Given the description of an element on the screen output the (x, y) to click on. 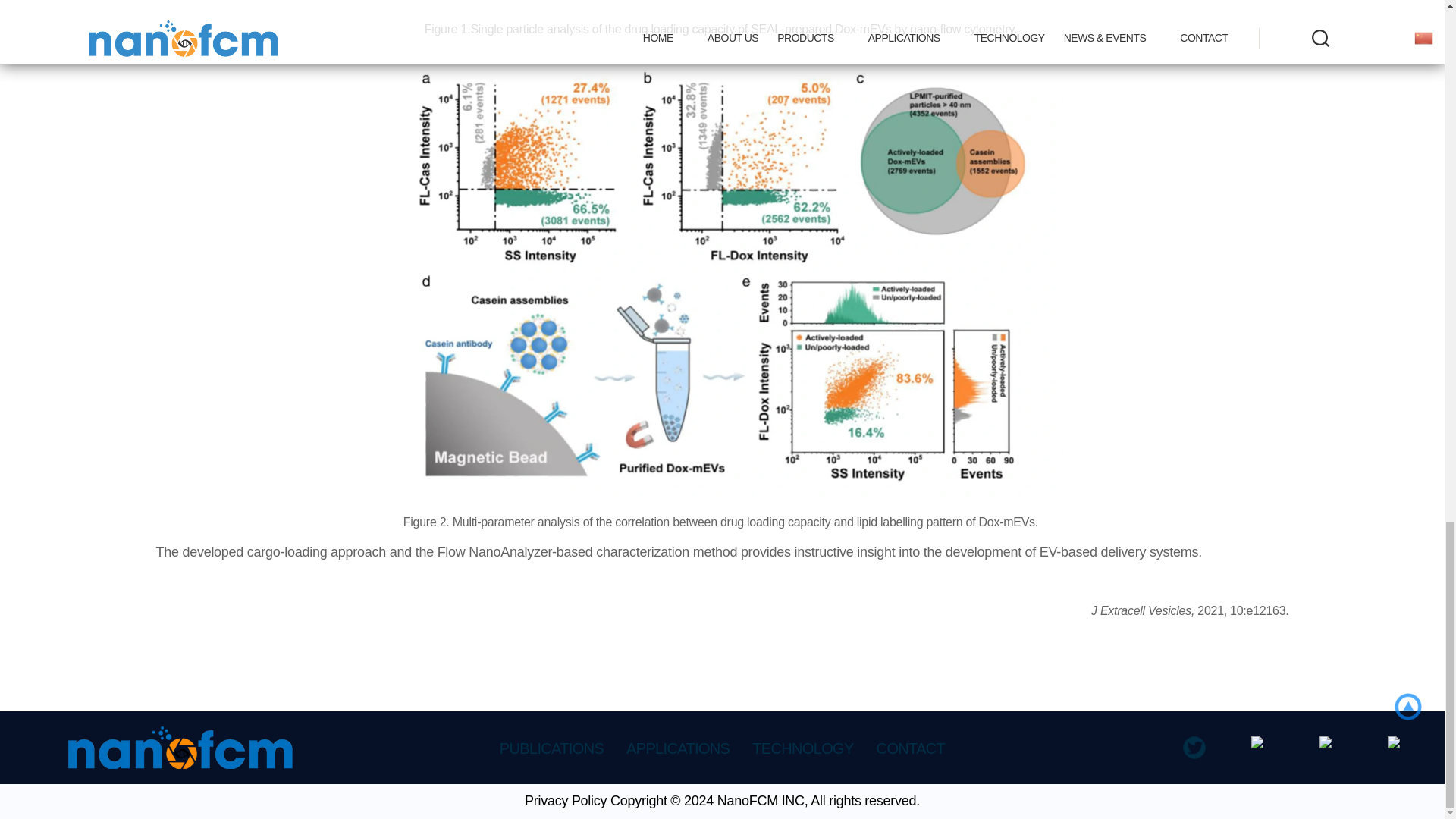
1678332729273995.webp (721, 5)
